Given the description of an element on the screen output the (x, y) to click on. 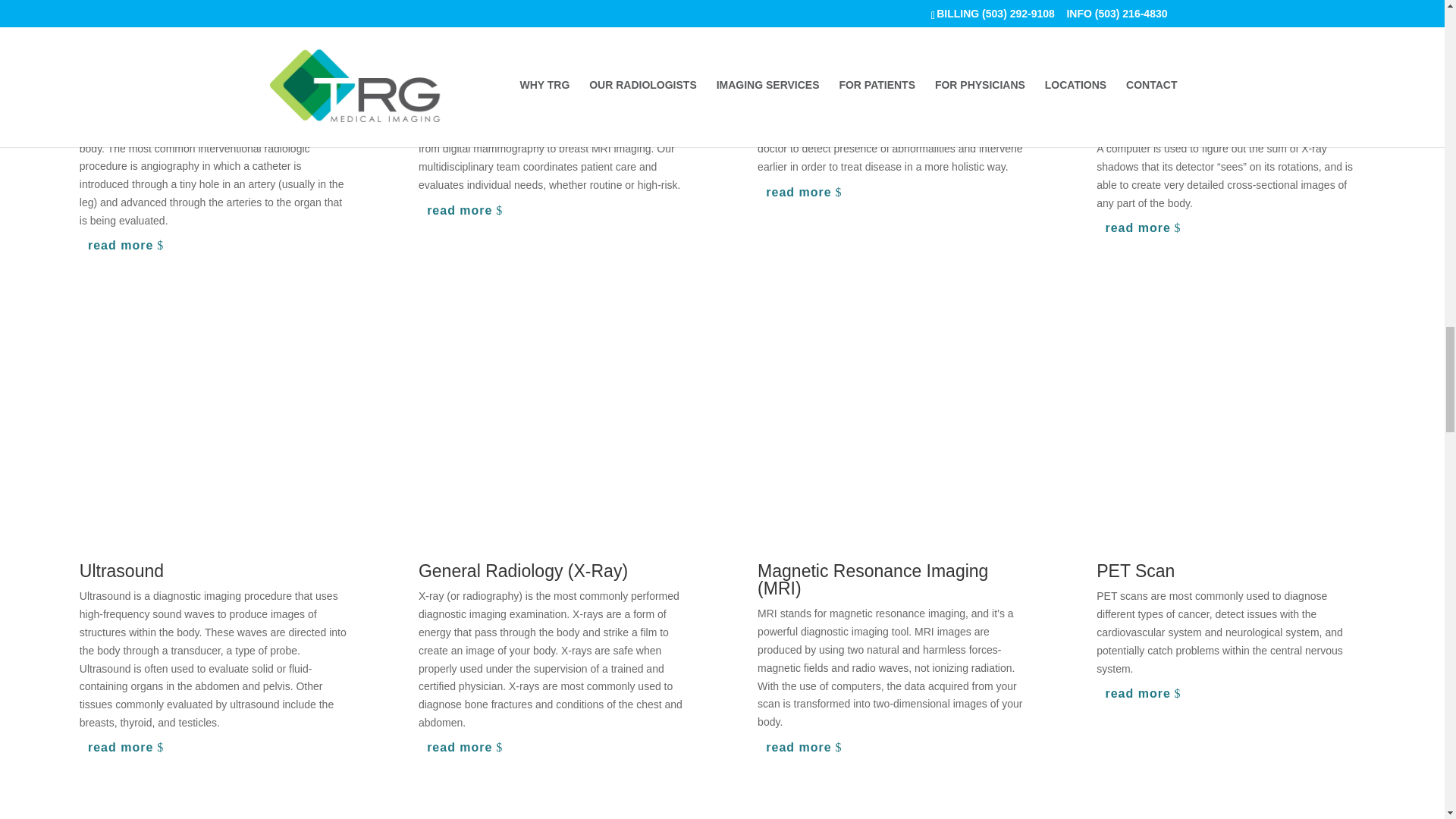
read more (1145, 693)
read more (806, 747)
read more (467, 210)
read more (467, 747)
read more (128, 245)
read more (806, 192)
read more (1145, 228)
read more (128, 747)
